Given the description of an element on the screen output the (x, y) to click on. 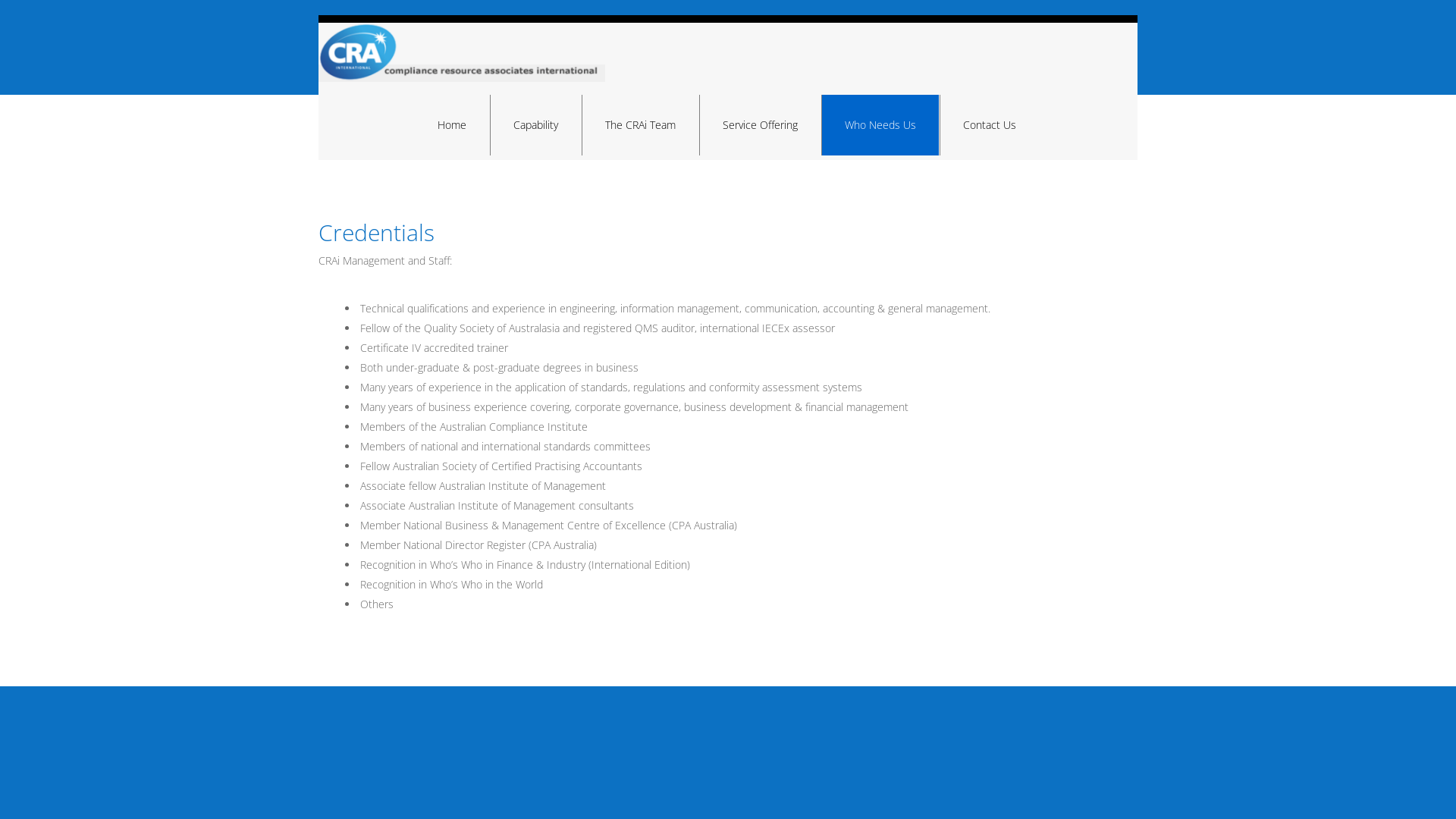
Who Needs Us Element type: text (880, 124)
Home Element type: text (451, 124)
Service Offering Element type: text (759, 124)
The CRAi Team Element type: text (640, 124)
Contact Us Element type: text (989, 124)
Capability Element type: text (535, 124)
